Given the description of an element on the screen output the (x, y) to click on. 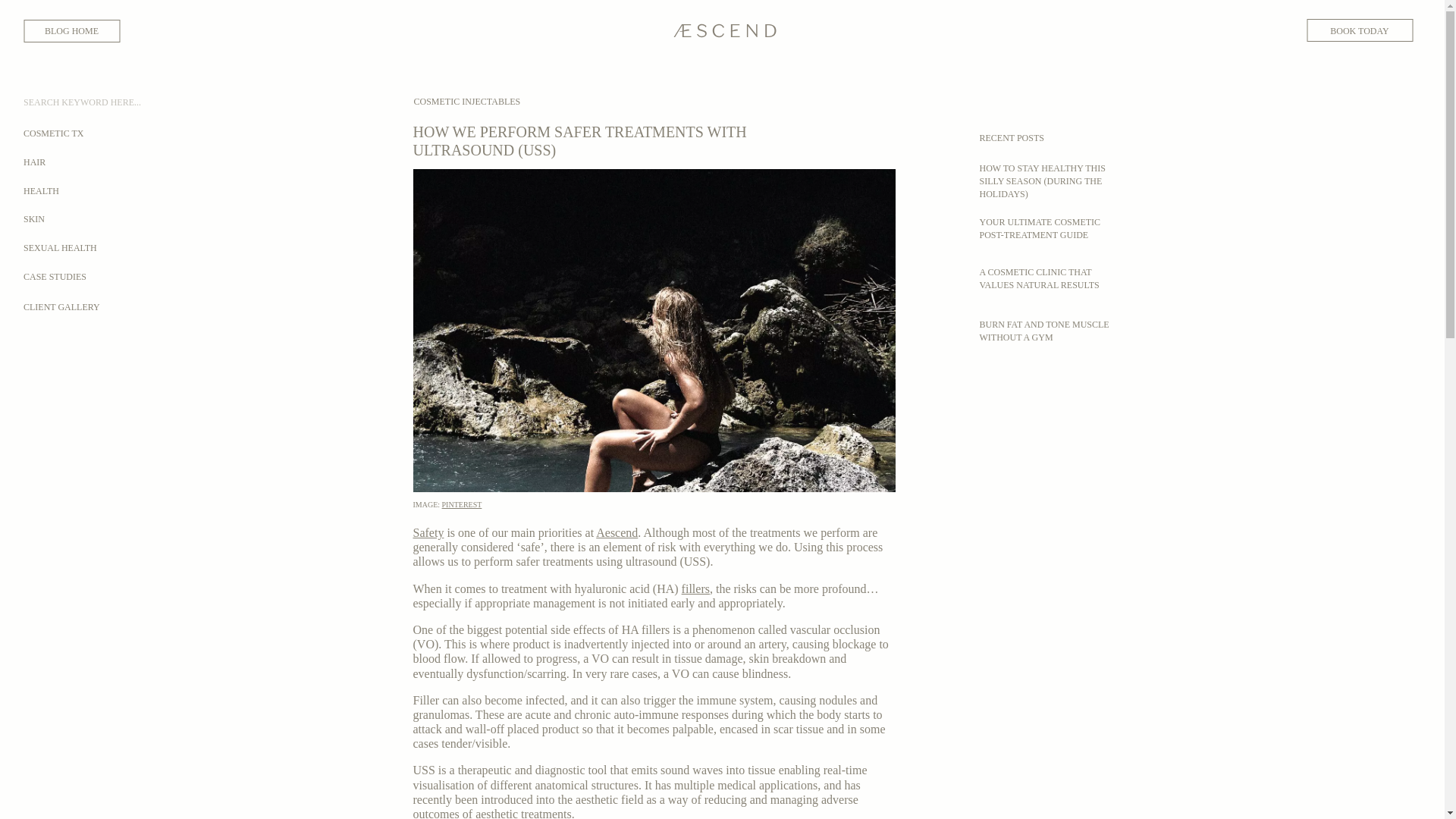
BLOG HOME (71, 30)
A COSMETIC CLINIC THAT VALUES NATURAL RESULTS (1039, 278)
fillers (695, 588)
BURN FAT AND TONE MUSCLE WITHOUT A GYM (1044, 331)
COSMETIC INJECTABLES (467, 101)
Safety (428, 532)
Aescend (616, 532)
SEXUAL HEALTH (338, 246)
PINTEREST (461, 504)
HEALTH  (338, 189)
